Given the description of an element on the screen output the (x, y) to click on. 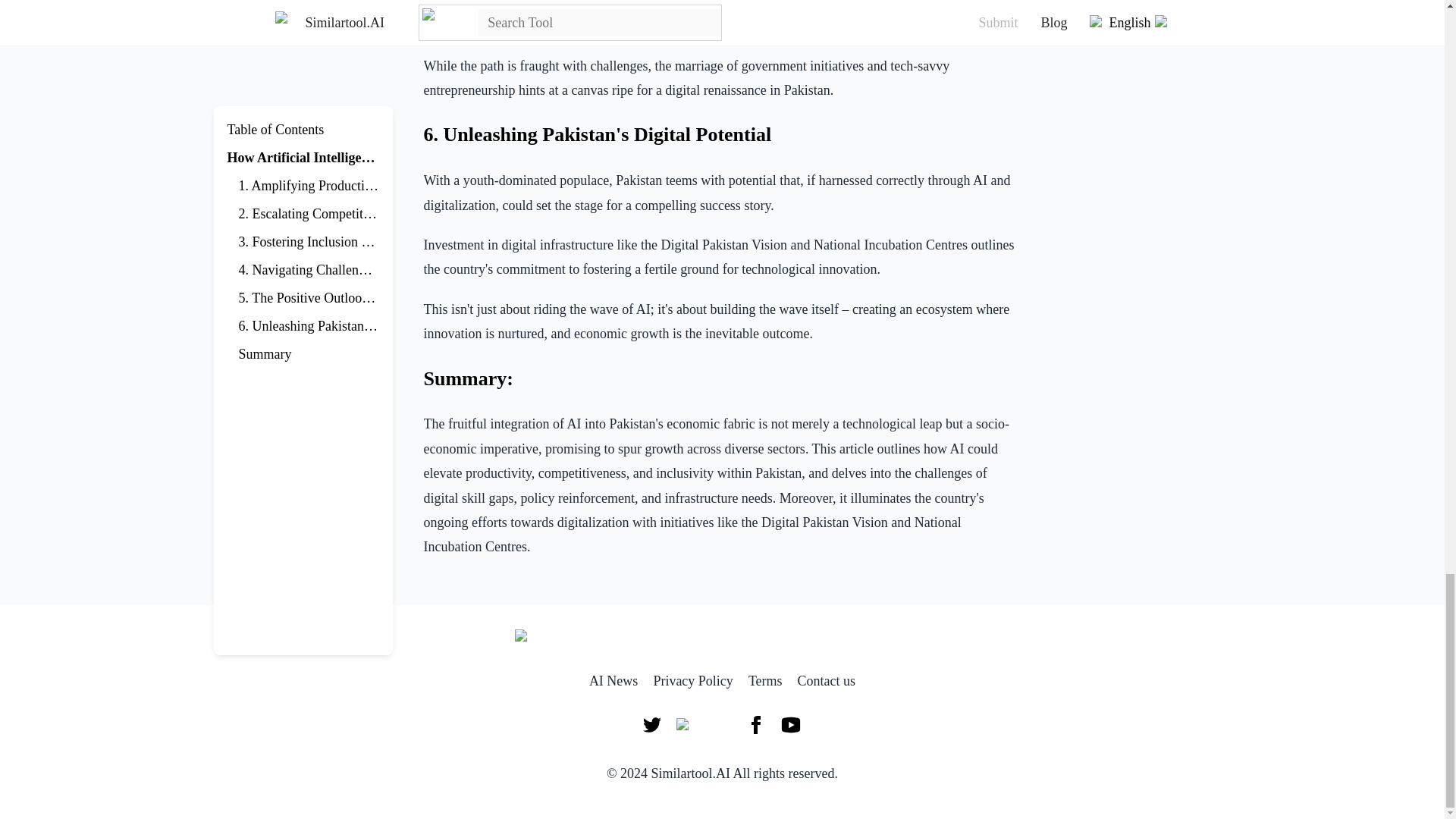
Terms (765, 680)
AI News (614, 680)
Privacy Policy (692, 680)
Contact us (826, 680)
